Given the description of an element on the screen output the (x, y) to click on. 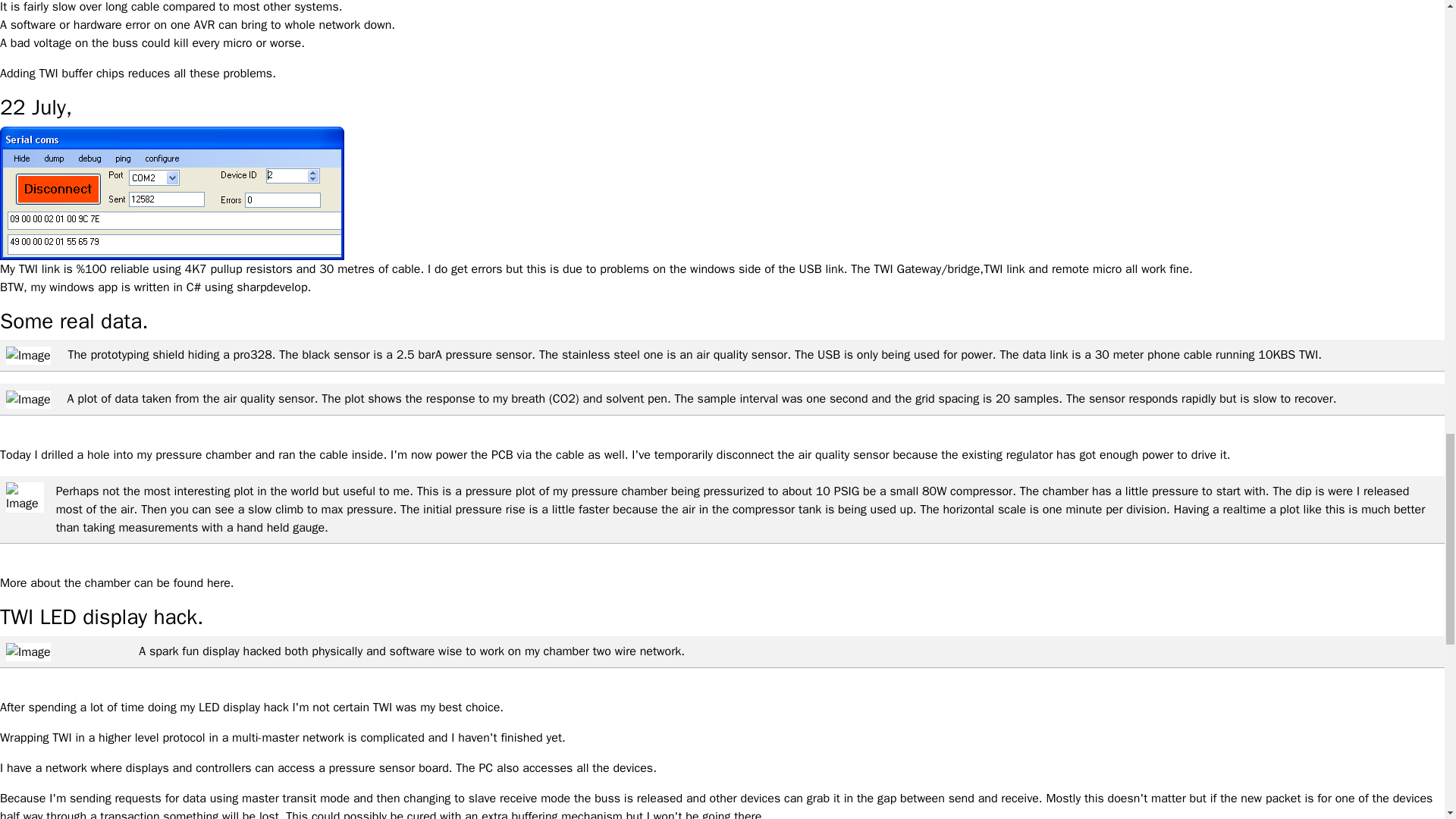
here (218, 582)
Chamber (218, 582)
LED display hack (243, 706)
LED display hack (243, 706)
